Given the description of an element on the screen output the (x, y) to click on. 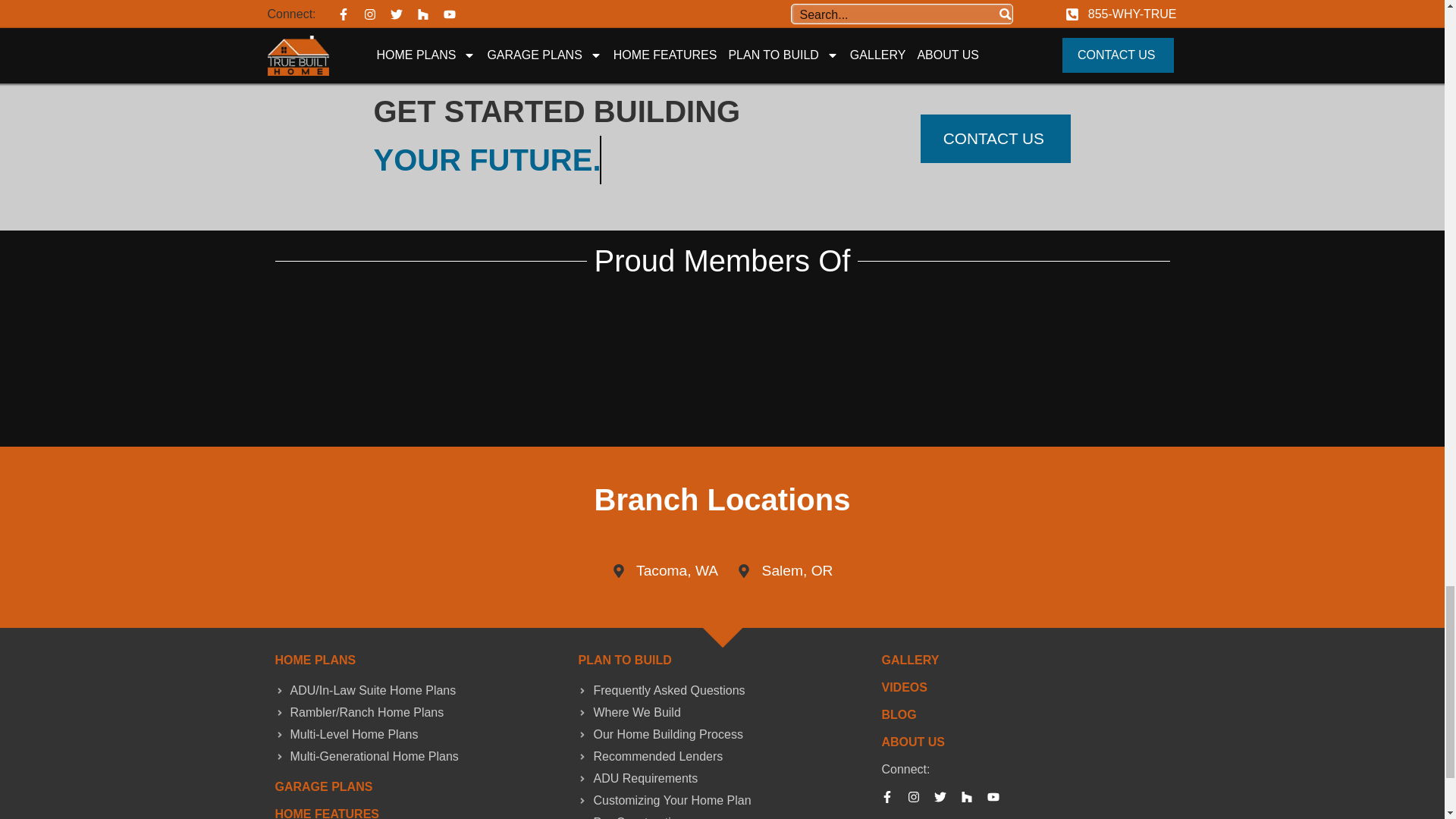
KBA-Logo-Wht.png (949, 399)
MBAlogo-white.png (493, 399)
nahb-logo-white.png (494, 326)
